Given the description of an element on the screen output the (x, y) to click on. 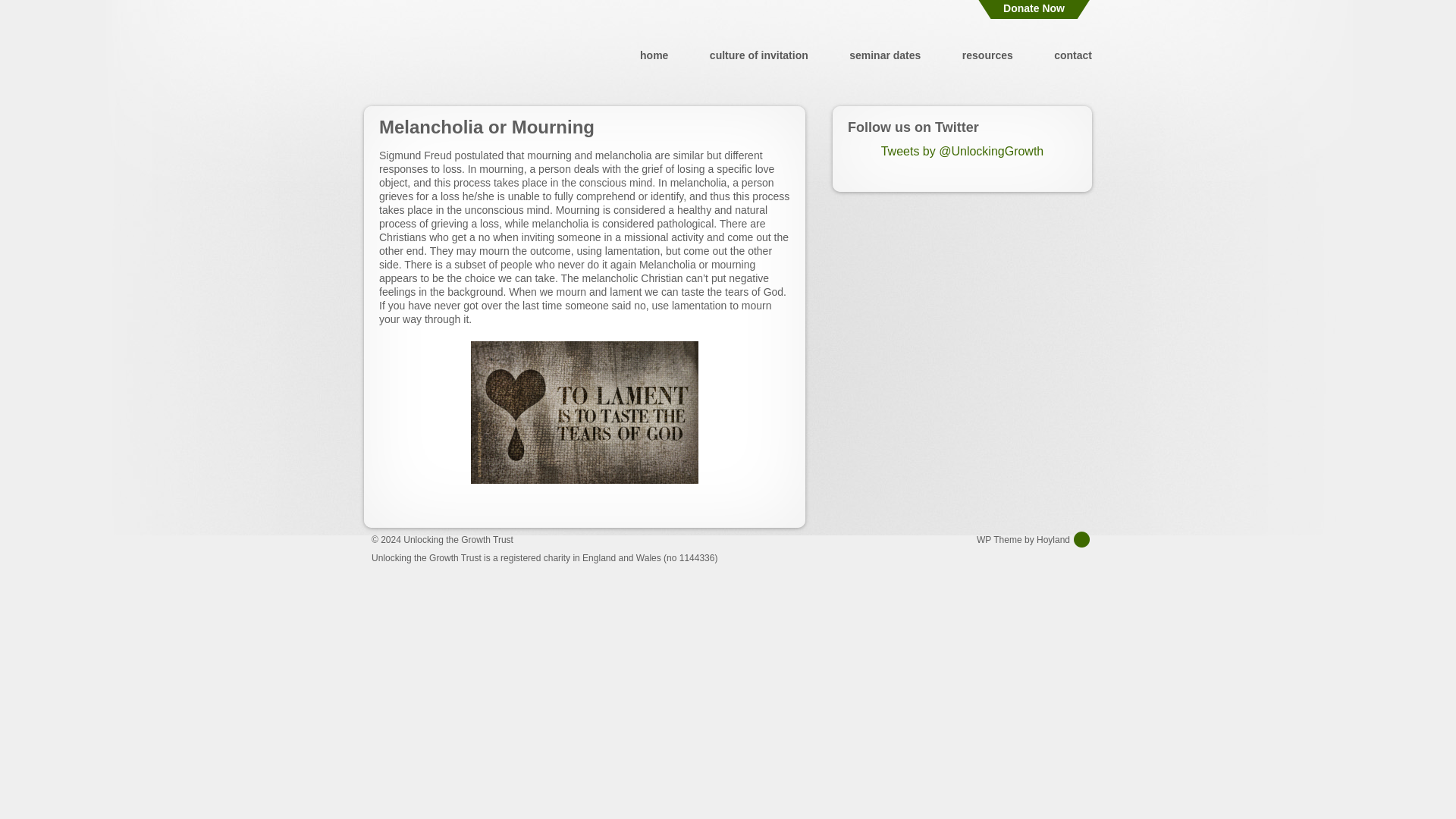
home (654, 55)
Unlocking the Growth Trust (457, 55)
resources (987, 55)
Unlocking the Growth Trust (458, 539)
Unlocking the Growth (457, 55)
seminar dates (884, 55)
Wordpress theme by Hoyland Web Design (1033, 539)
Donate Now (1033, 9)
contact (1073, 55)
culture of invitation (759, 55)
WP Theme by Hoyland (1033, 539)
Unlocking the Growth Trust (458, 539)
